Given the description of an element on the screen output the (x, y) to click on. 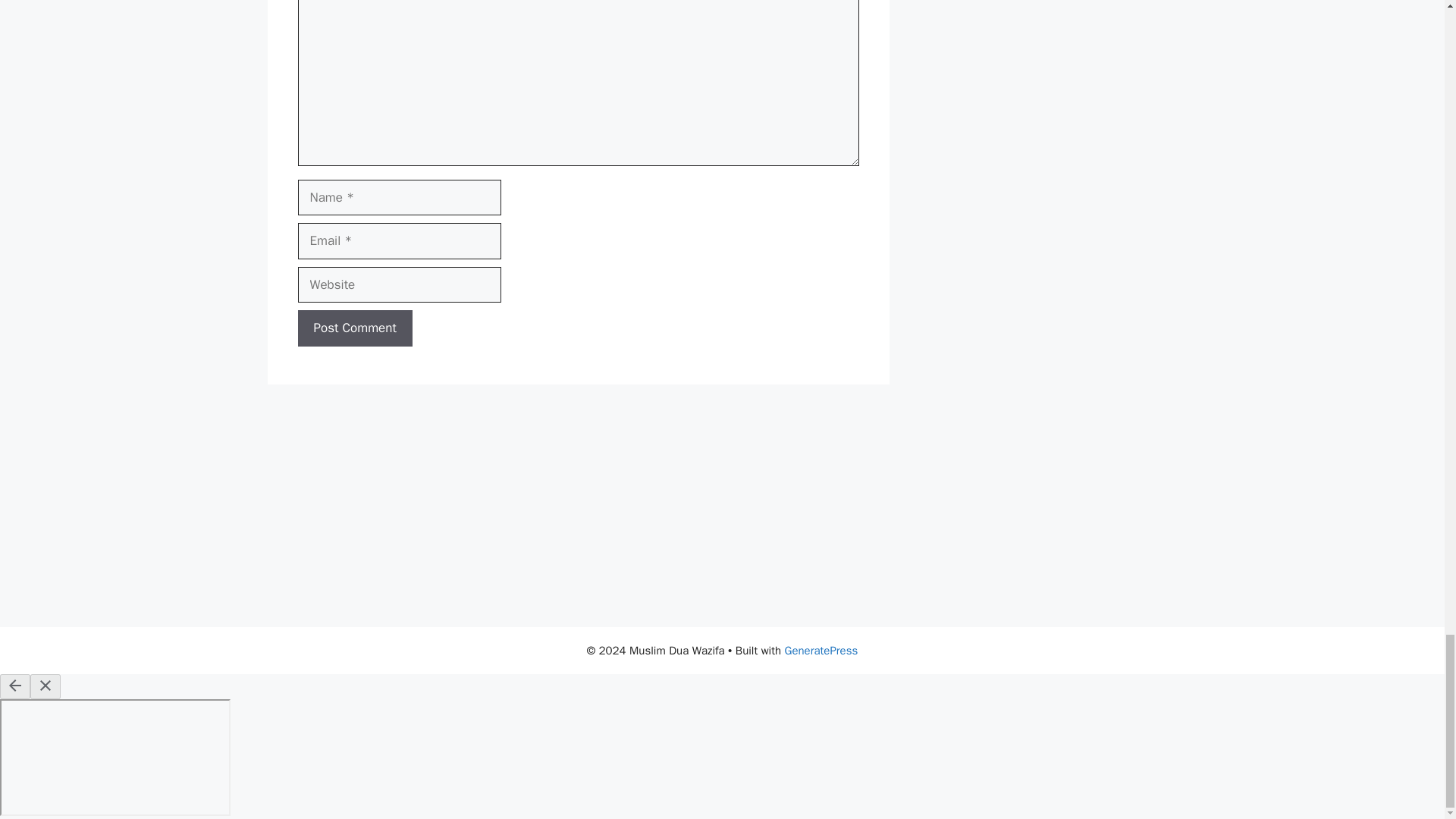
Post Comment (354, 328)
Post Comment (354, 328)
